Given the description of an element on the screen output the (x, y) to click on. 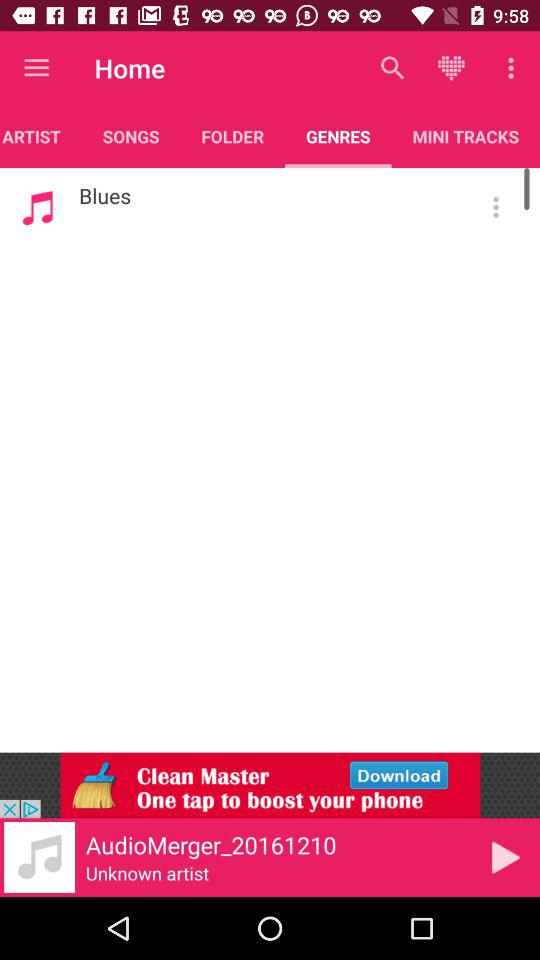
advertisement display (270, 785)
